Given the description of an element on the screen output the (x, y) to click on. 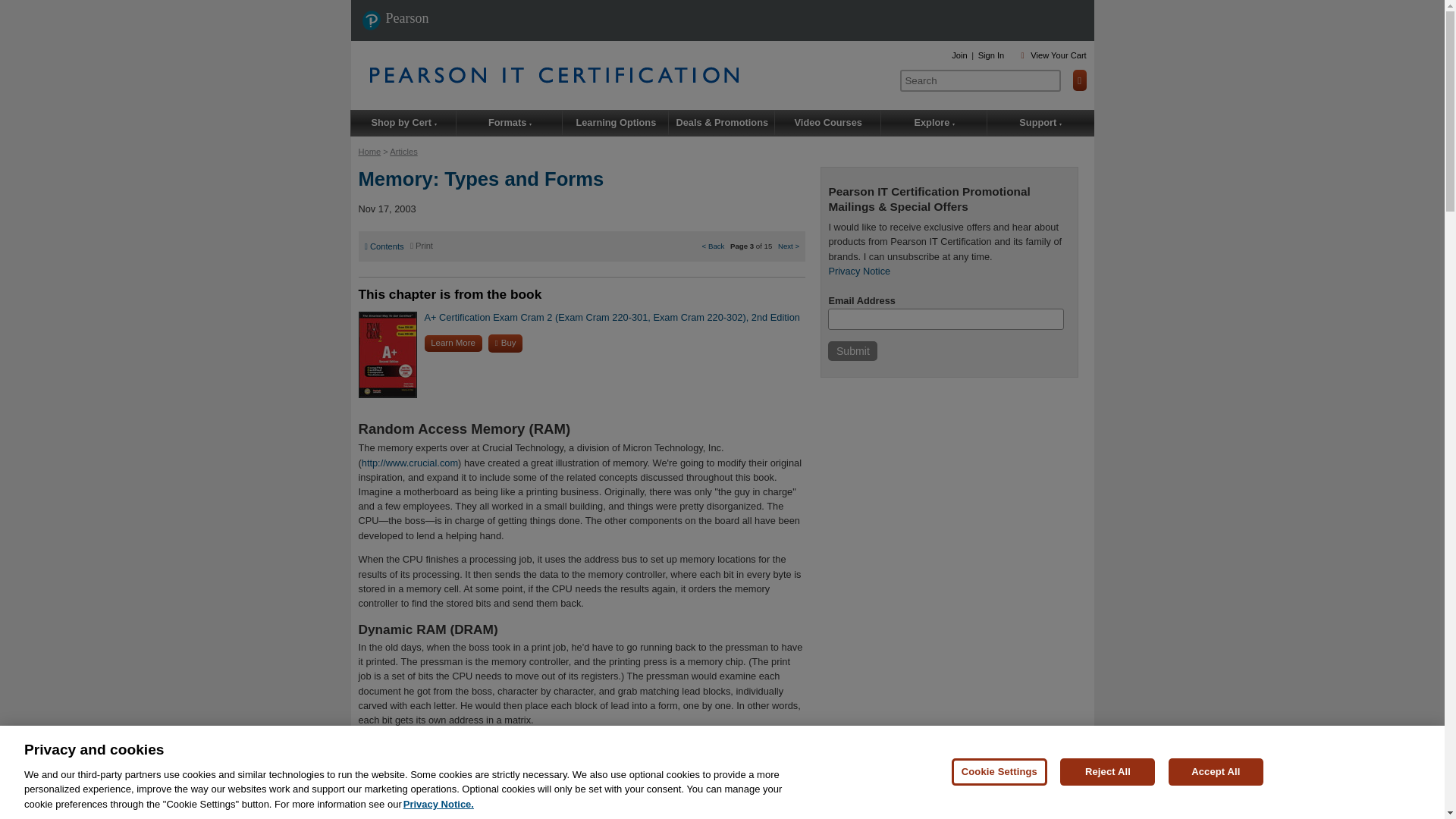
Learn More (453, 342)
Privacy Notice (858, 270)
Articles (403, 151)
Home (369, 151)
Submit (852, 351)
Home (629, 74)
Print (421, 245)
Submit (852, 351)
Memory: Types and Forms (481, 178)
